Given the description of an element on the screen output the (x, y) to click on. 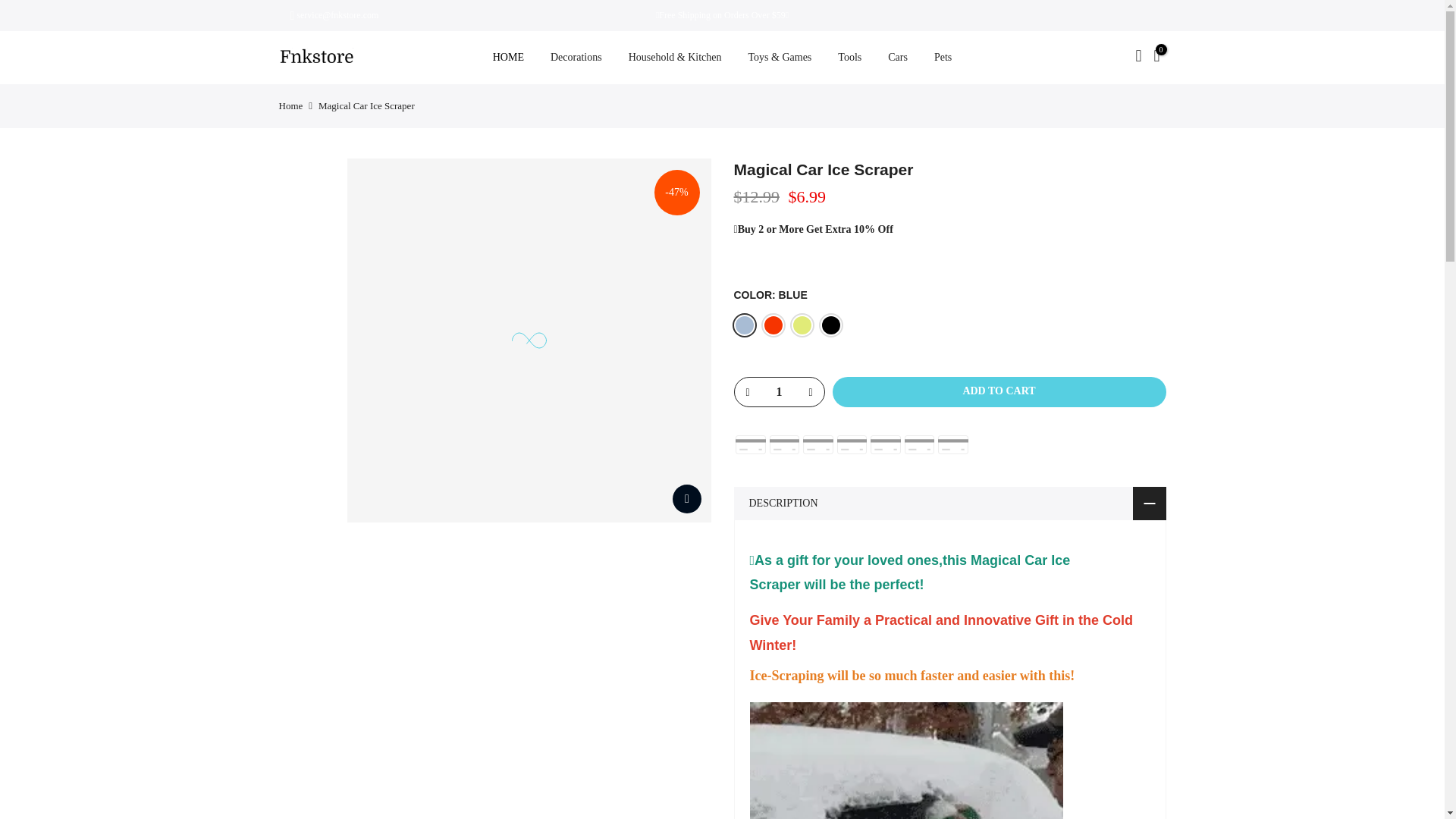
HOME (508, 57)
Home (290, 105)
ADD TO CART (999, 391)
1 (778, 391)
DESCRIPTION (949, 503)
Tools (850, 57)
Decorations (575, 57)
